Given the description of an element on the screen output the (x, y) to click on. 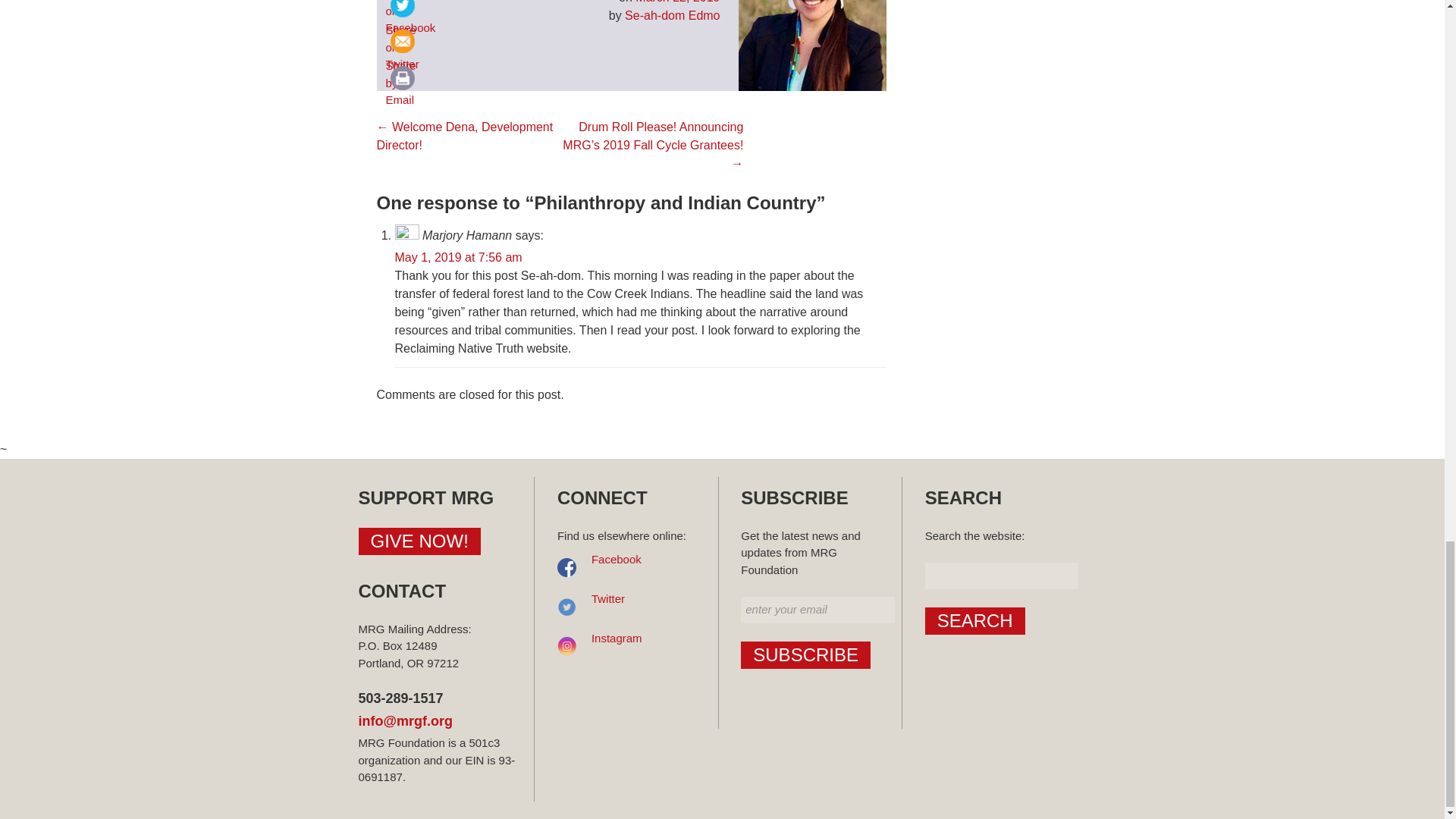
print (402, 78)
enter your email (818, 610)
Search (974, 620)
Search (974, 620)
email (402, 41)
Se-ah-dom Edmo (671, 15)
twitter (402, 11)
View all posts by Se-ah-dom Edmo (671, 15)
March 22, 2019 (676, 2)
Subscribe (805, 655)
